Given the description of an element on the screen output the (x, y) to click on. 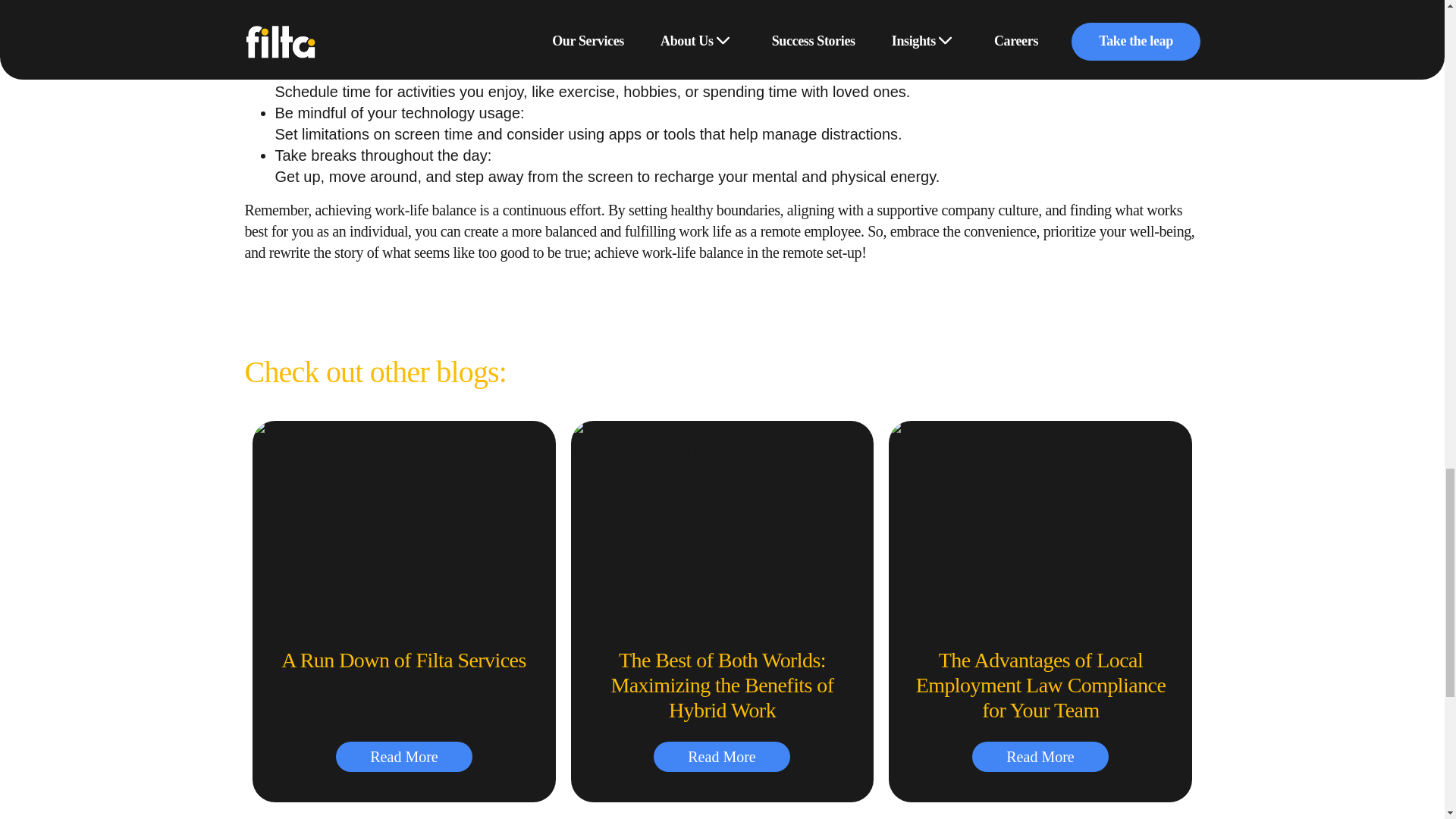
Read More (721, 757)
Read More (402, 757)
Read More (1040, 757)
